Given the description of an element on the screen output the (x, y) to click on. 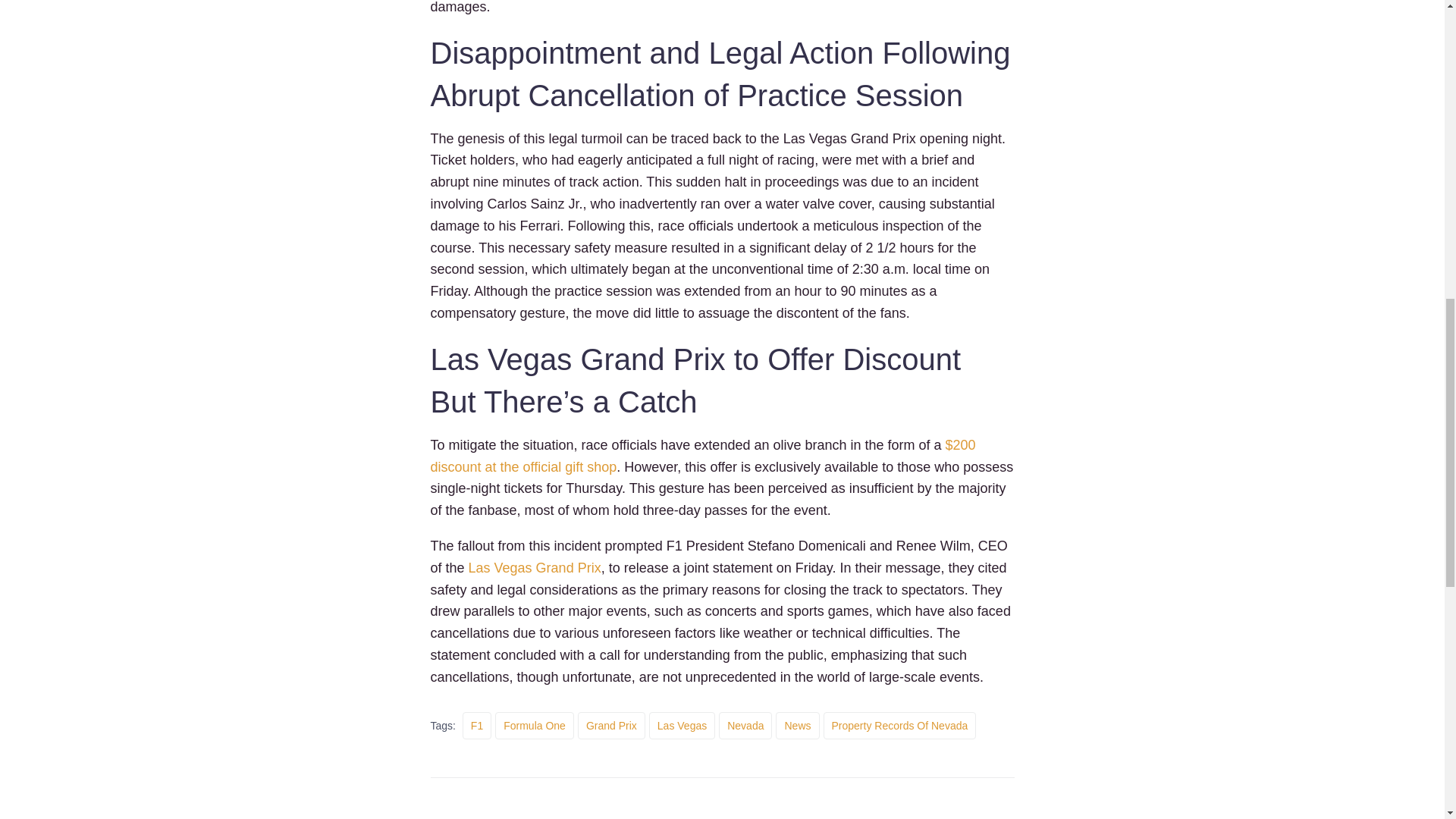
Nevada (745, 725)
Formula One (534, 725)
News (797, 725)
Grand Prix (611, 725)
F1 (477, 725)
Las Vegas Grand Prix (534, 567)
Property Records Of Nevada (900, 725)
Las Vegas (681, 725)
